Given the description of an element on the screen output the (x, y) to click on. 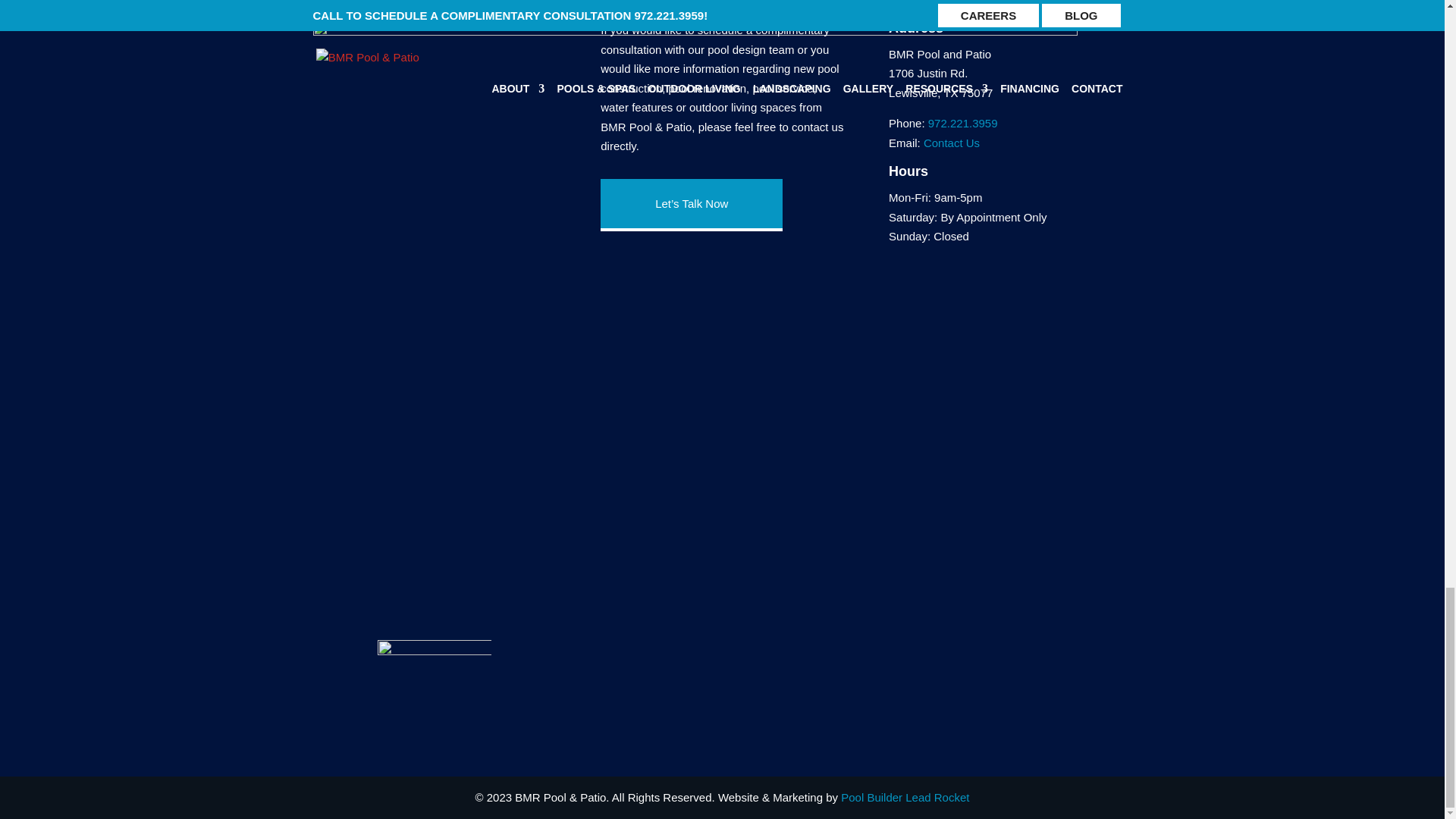
ico-bbb (434, 667)
